Given the description of an element on the screen output the (x, y) to click on. 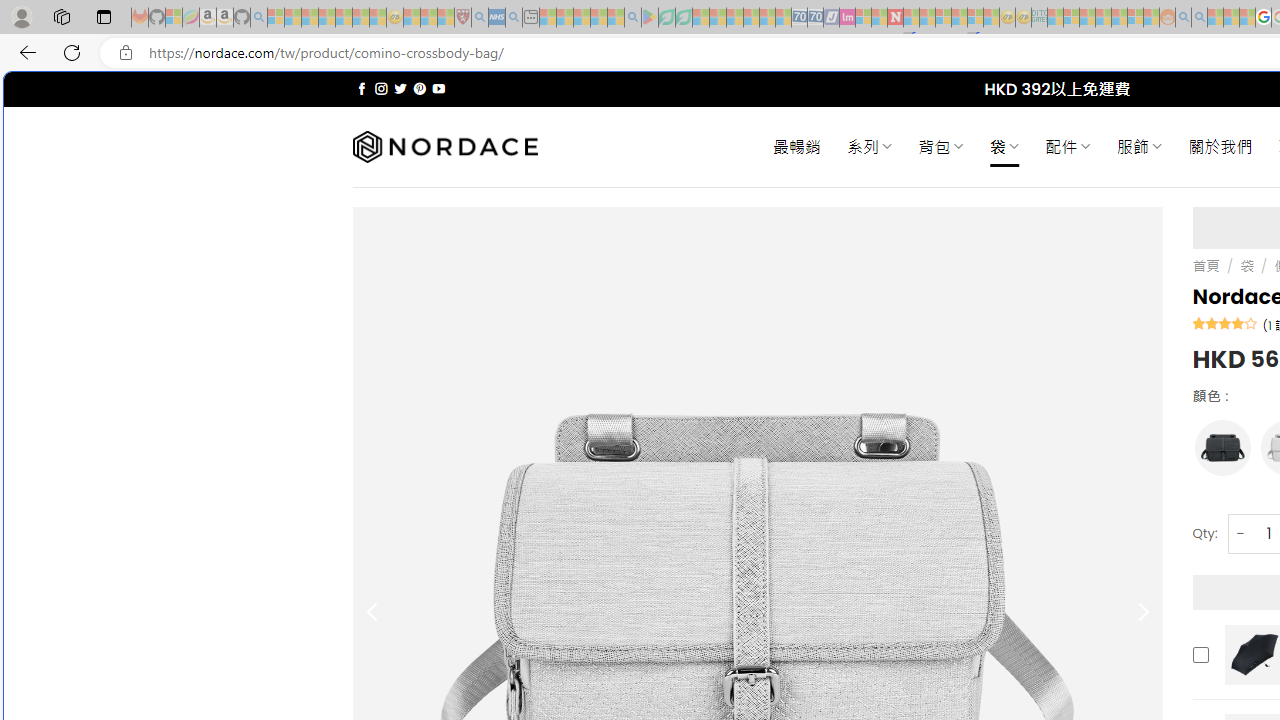
Trusted Community Engagement and Contributions | Guidelines (911, 17)
NCL Adult Asthma Inhaler Choice Guideline - Sleeping (497, 17)
Jobs - lastminute.com Investor Portal - Sleeping (847, 17)
Terms of Use Agreement - Sleeping (666, 17)
MSNBC - MSN - Sleeping (1055, 17)
Microsoft account | Privacy - Sleeping (1071, 17)
Back (24, 52)
Follow on Instagram (381, 88)
Follow on Pinterest (419, 88)
Kinda Frugal - MSN - Sleeping (1119, 17)
